Given the description of an element on the screen output the (x, y) to click on. 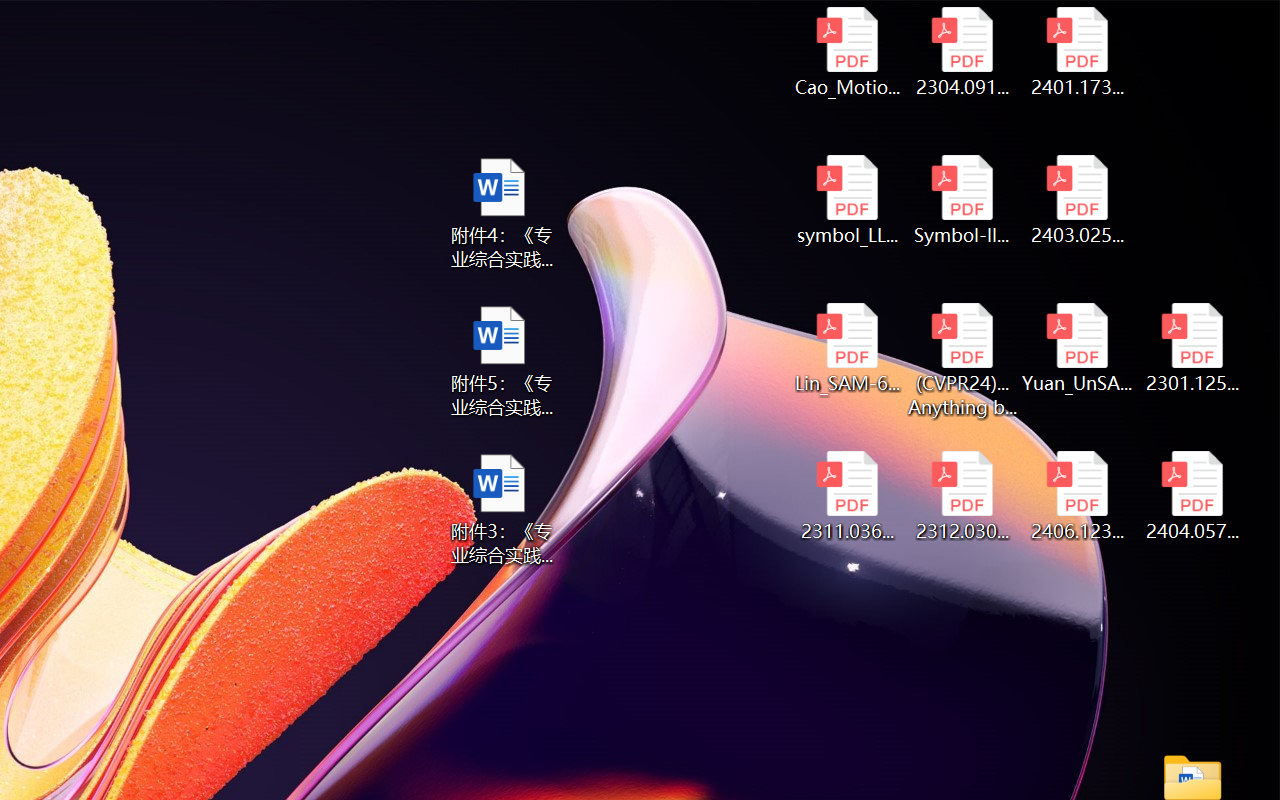
2301.12597v3.pdf (1192, 348)
(CVPR24)Matching Anything by Segmenting Anything.pdf (962, 360)
2304.09121v3.pdf (962, 52)
2403.02502v1.pdf (1077, 200)
2404.05719v1.pdf (1192, 496)
2401.17399v1.pdf (1077, 52)
2311.03658v2.pdf (846, 496)
symbol_LLM.pdf (846, 200)
2406.12373v2.pdf (1077, 496)
2312.03032v2.pdf (962, 496)
Symbol-llm-v2.pdf (962, 200)
